Given the description of an element on the screen output the (x, y) to click on. 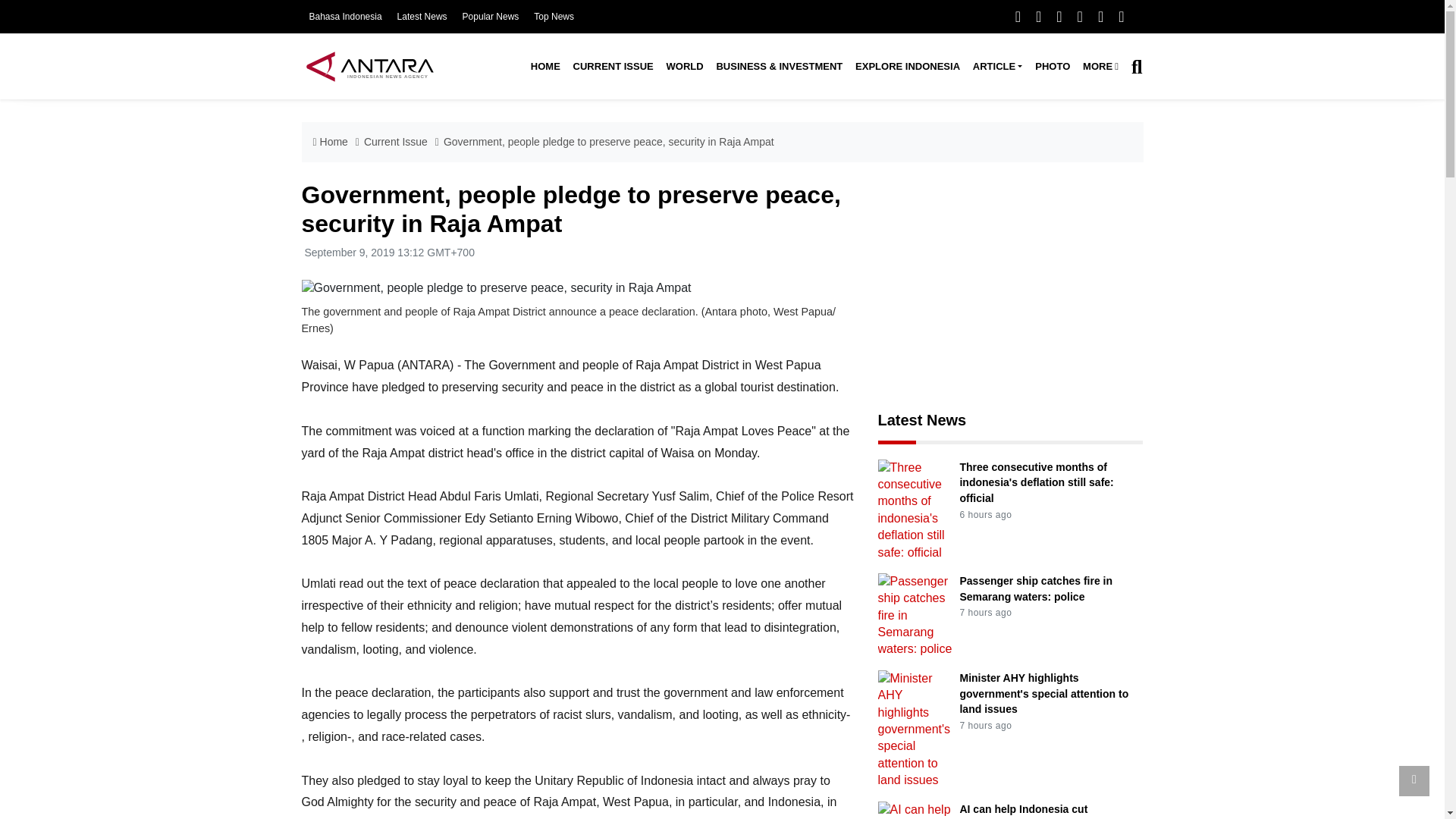
Explore Indonesia (907, 66)
Current Issue (612, 66)
Article (996, 66)
Popular News (491, 16)
EXPLORE INDONESIA (907, 66)
Top News (553, 16)
Popular News (491, 16)
ARTICLE (996, 66)
Latest News (421, 16)
CURRENT ISSUE (612, 66)
